Given the description of an element on the screen output the (x, y) to click on. 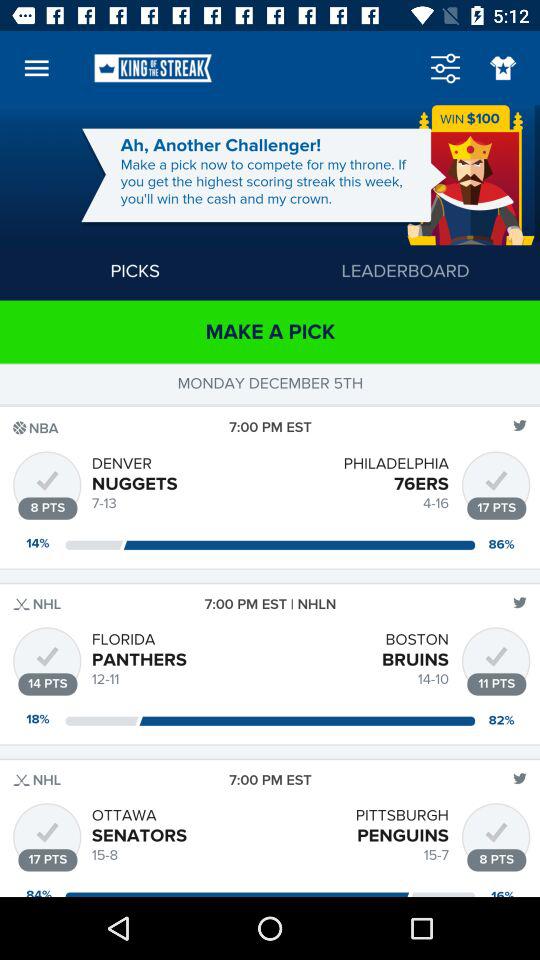
blusa (502, 68)
